Given the description of an element on the screen output the (x, y) to click on. 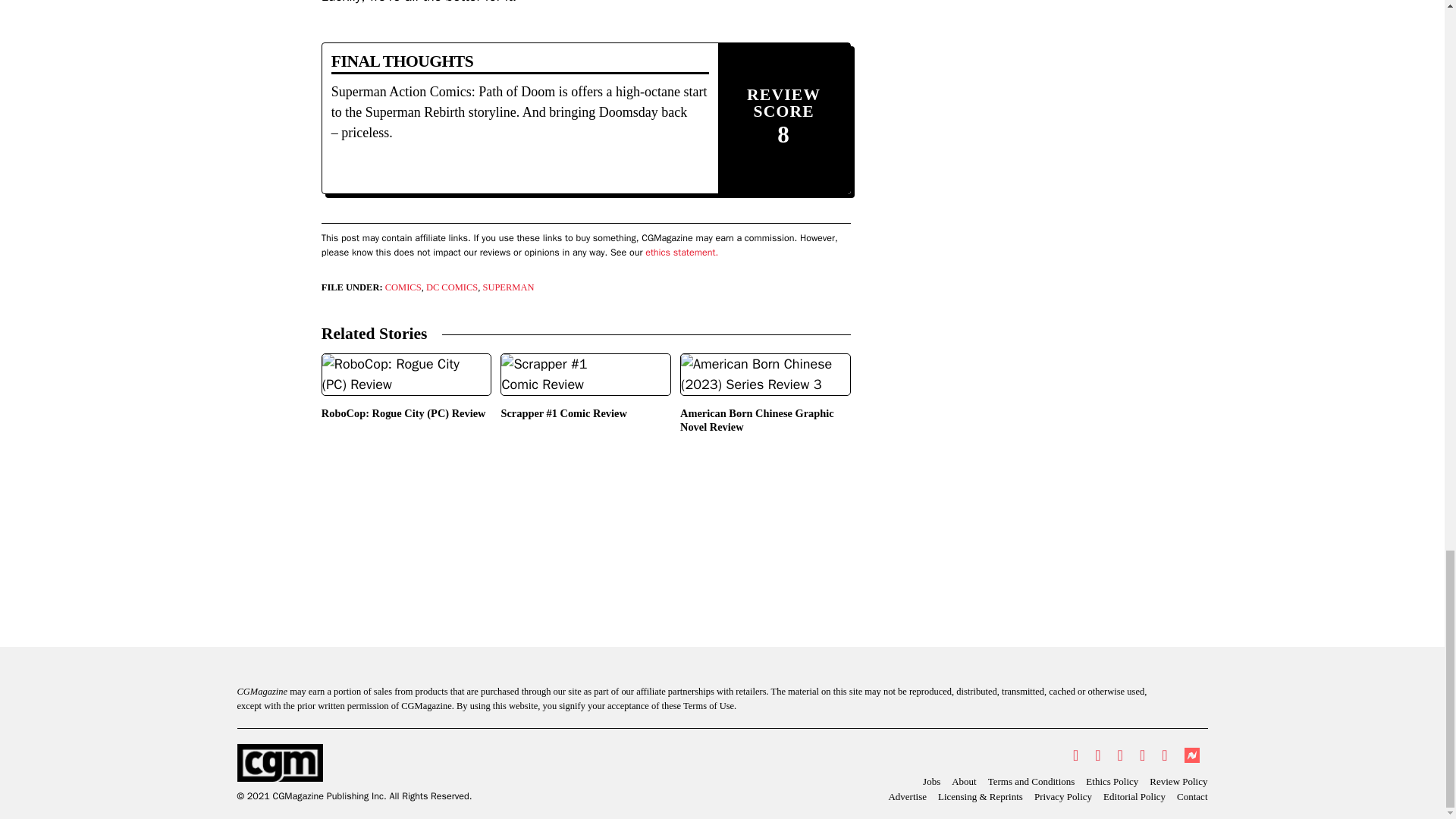
Instagram Profile (1120, 754)
CGMagazine (353, 762)
YouTube Page (1142, 754)
Twitter Profile (1075, 754)
NewsBreak (1190, 754)
Flipboard Page (1163, 754)
Facebook Page (1097, 754)
